Given the description of an element on the screen output the (x, y) to click on. 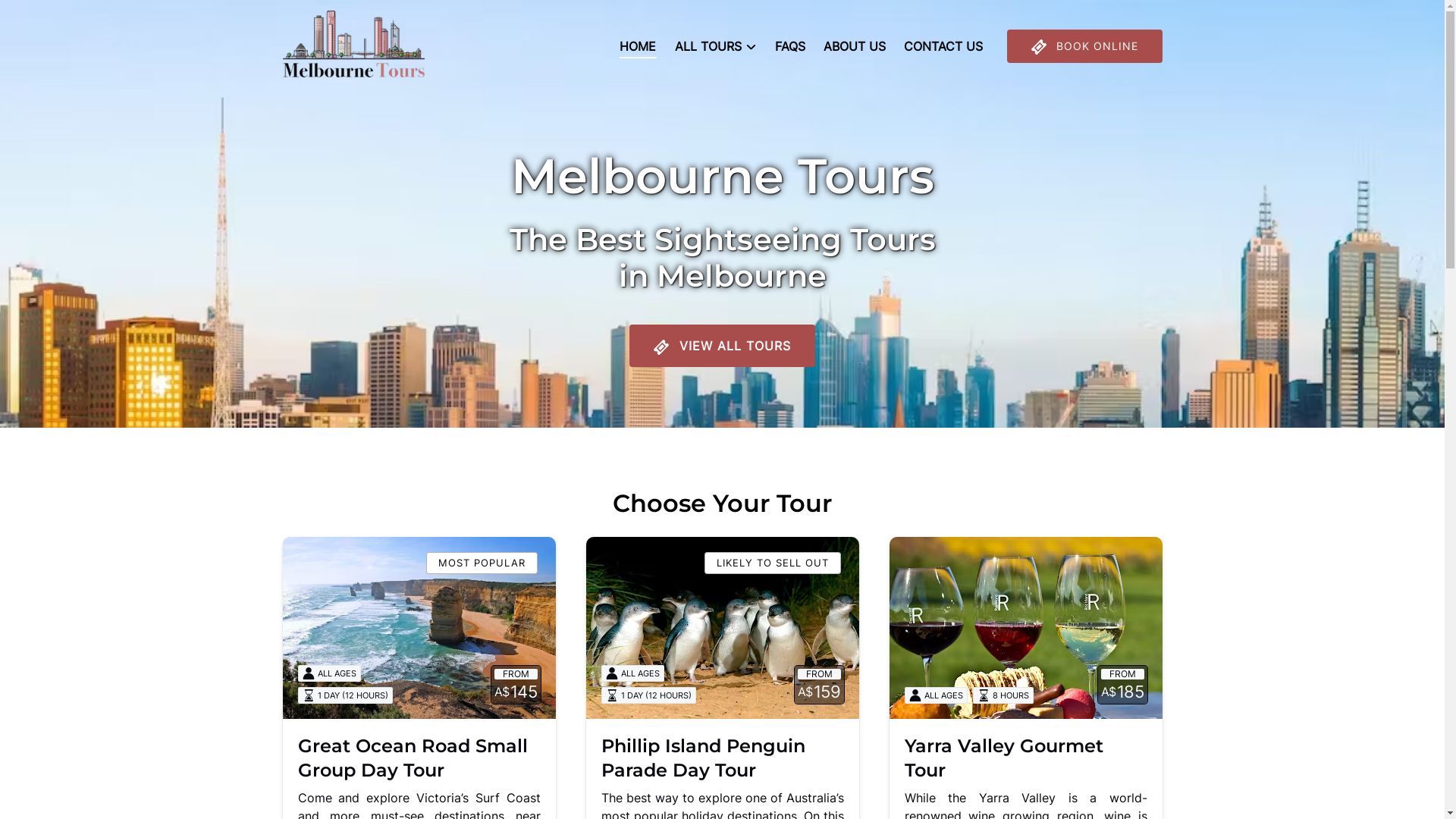
FAQS Element type: text (789, 46)
Skip to primary navigation Element type: text (83, 16)
CONTACT US Element type: text (942, 46)
Phillip Island Penguin Parade Day Tour Element type: text (702, 757)
TICKET VIEW ALL TOURS Element type: text (722, 302)
MOST POPULAR
FROM
A$145
1 DAY (12 HOURS)
ALL AGES Element type: text (418, 627)
Great Ocean Road Small Group Day Tour Element type: text (412, 757)
TICKET BOOK ONLINE Element type: text (1084, 45)
ABOUT US Element type: text (854, 46)
Yarra Valley Gourmet Tour Element type: text (1002, 757)
Skip to content Element type: text (51, 16)
LIKELY TO SELL OUT
FROM
A$159
1 DAY (12 HOURS)
ALL AGES Element type: text (721, 627)
HOME Element type: text (637, 46)
Skip to footer Element type: text (47, 16)
FROM
A$185
8 HOURS
ALL AGES Element type: text (1024, 627)
ALL TOURS Element type: text (715, 46)
